Given the description of an element on the screen output the (x, y) to click on. 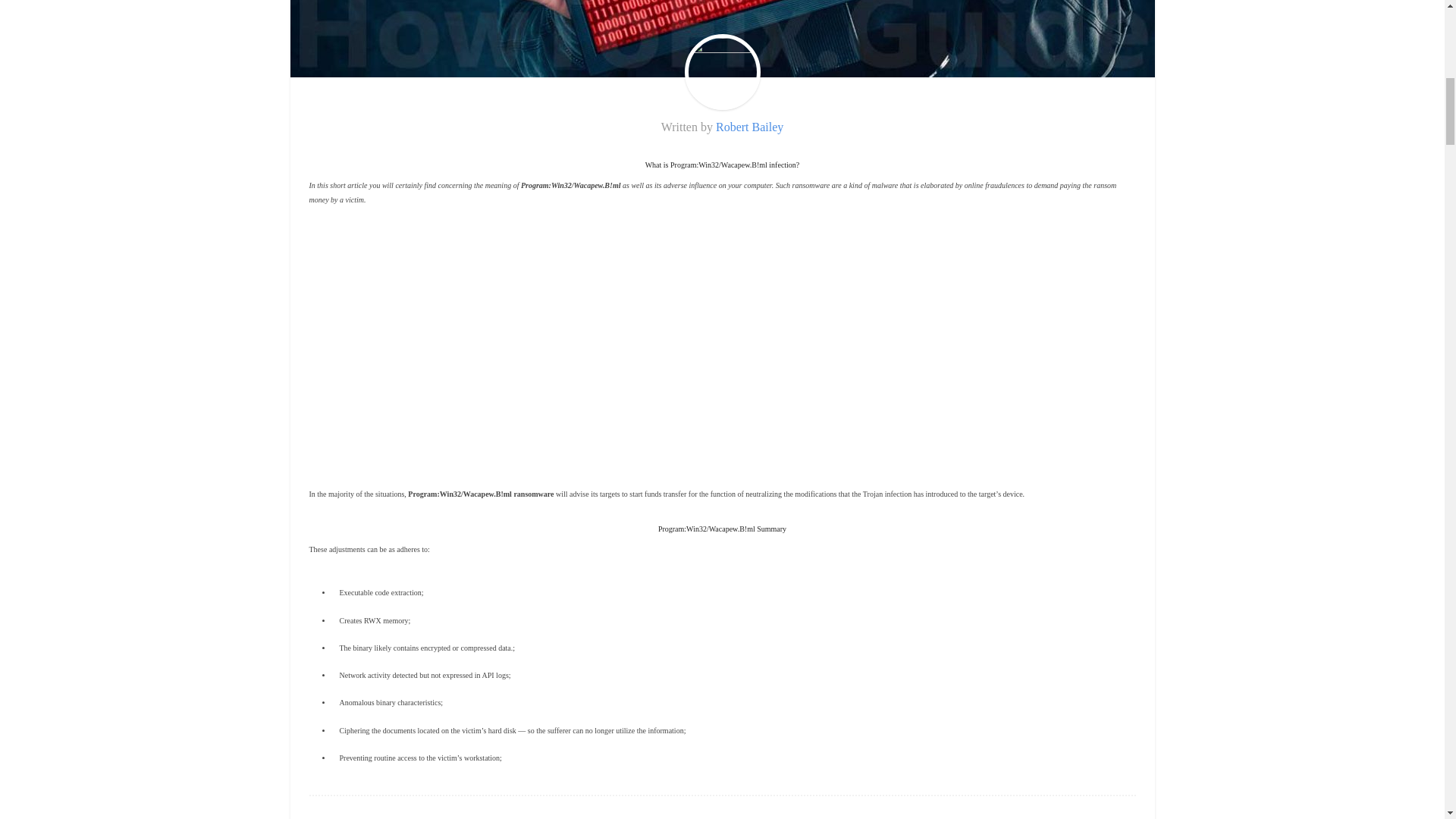
Robert Bailey (749, 126)
